Given the description of an element on the screen output the (x, y) to click on. 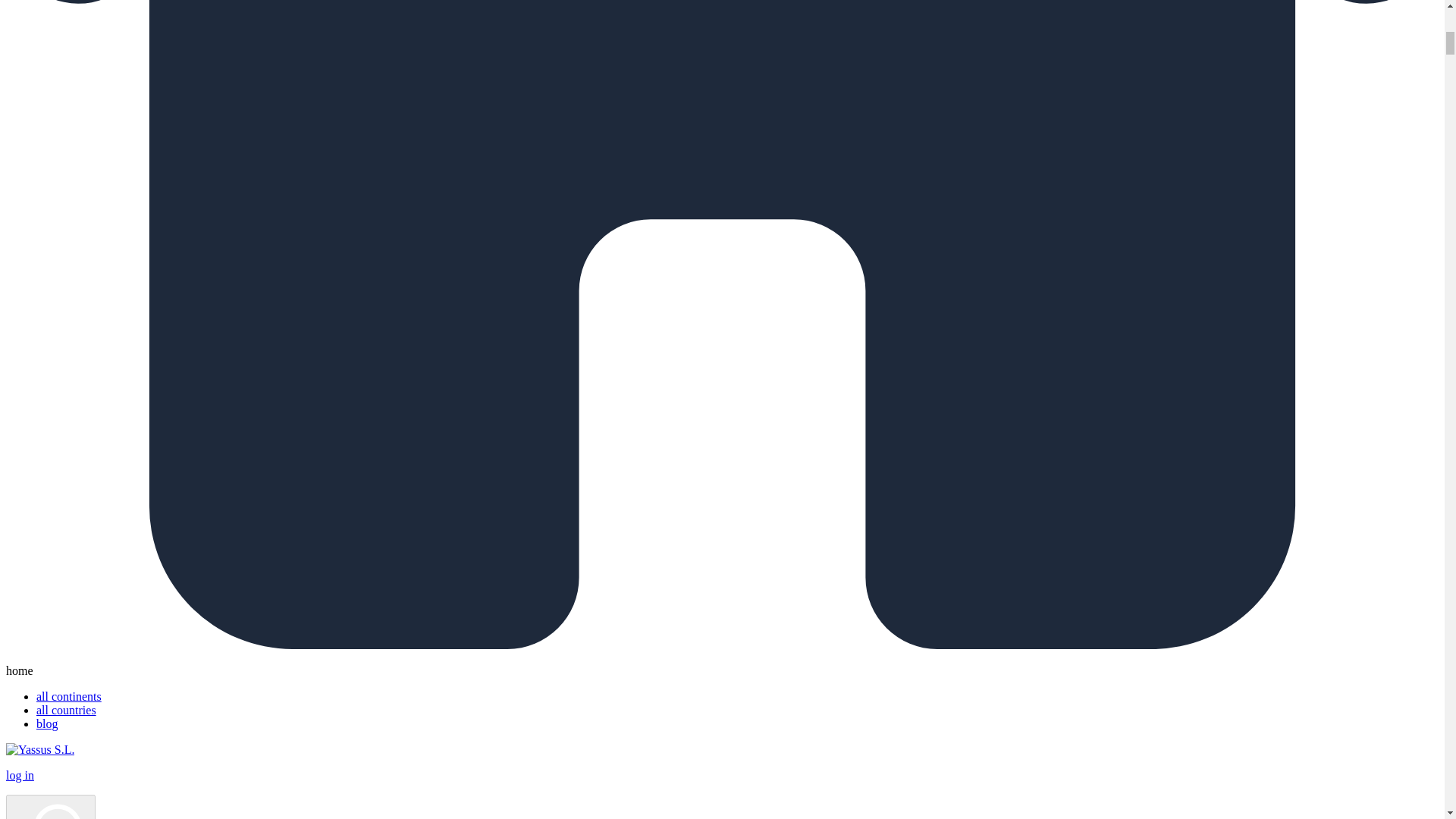
all countries (66, 709)
blog (47, 723)
all continents (68, 696)
find your booking (50, 806)
